Given the description of an element on the screen output the (x, y) to click on. 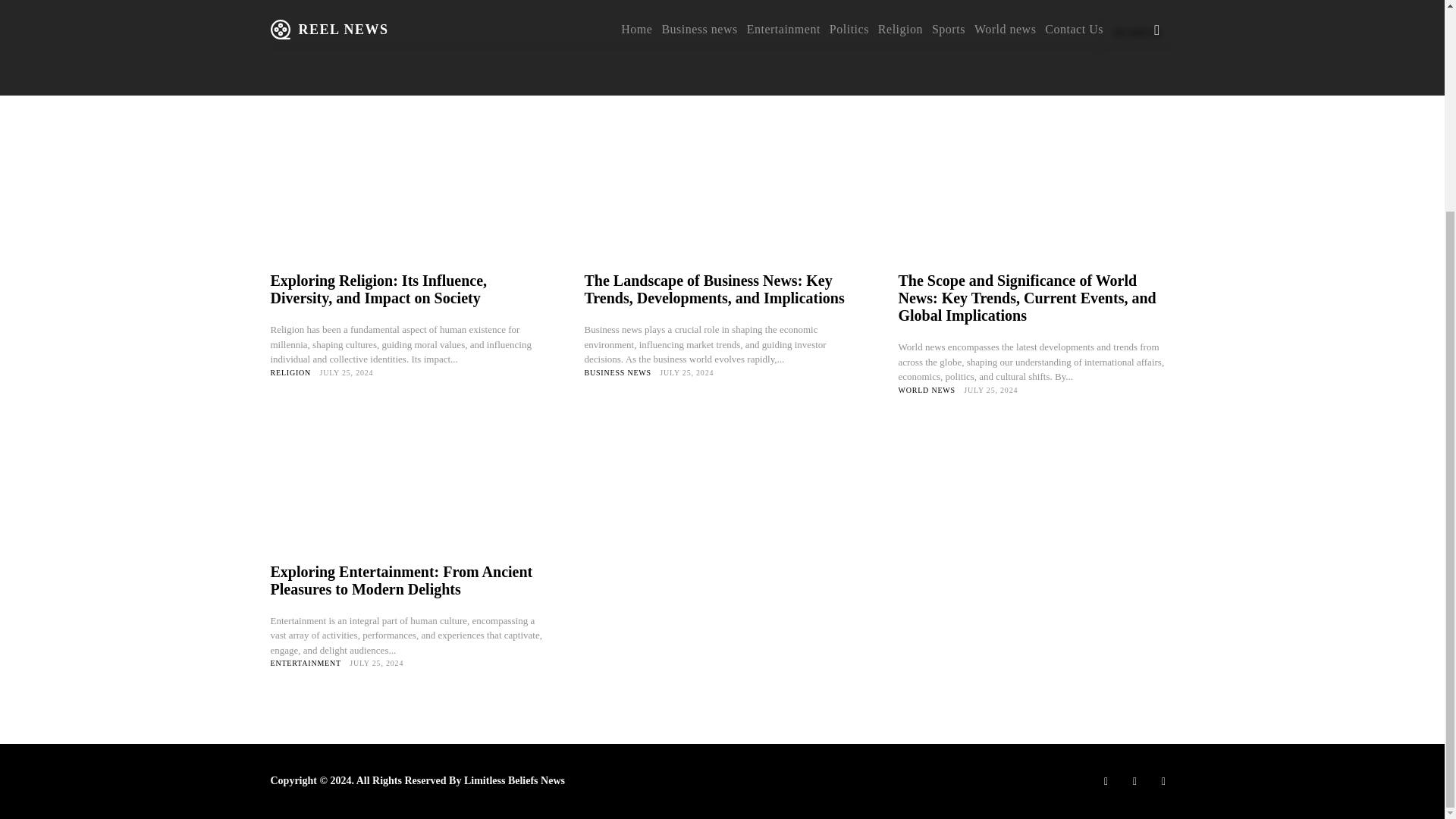
RELIGION (290, 371)
WORLD NEWS (926, 389)
Twitter (1163, 780)
Instagram (1134, 780)
SEARCH (1136, 31)
